Given the description of an element on the screen output the (x, y) to click on. 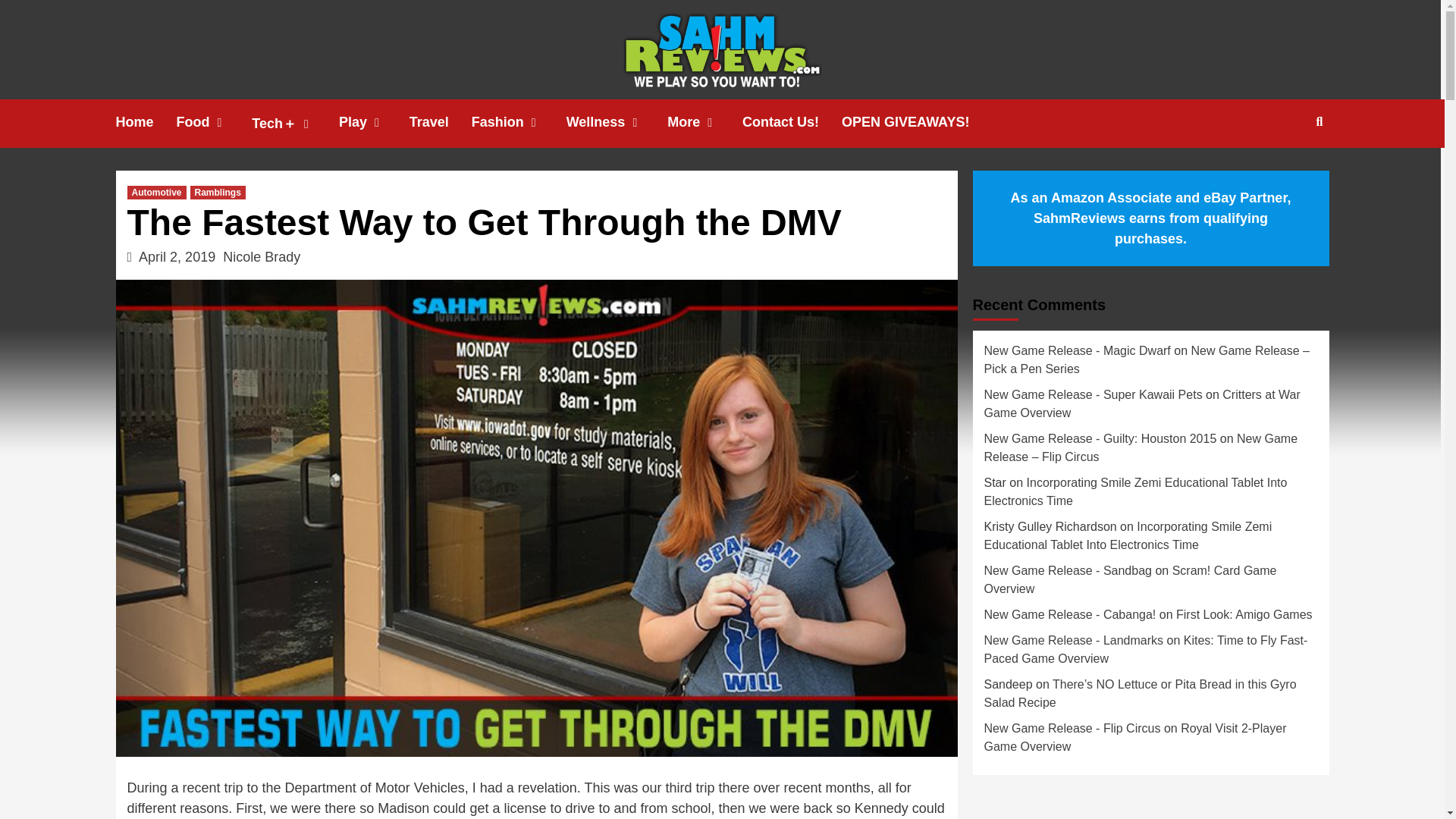
More (704, 122)
Play (374, 122)
Home (145, 122)
Travel (440, 122)
Fashion (518, 122)
Wellness (617, 122)
Food (213, 122)
